Given the description of an element on the screen output the (x, y) to click on. 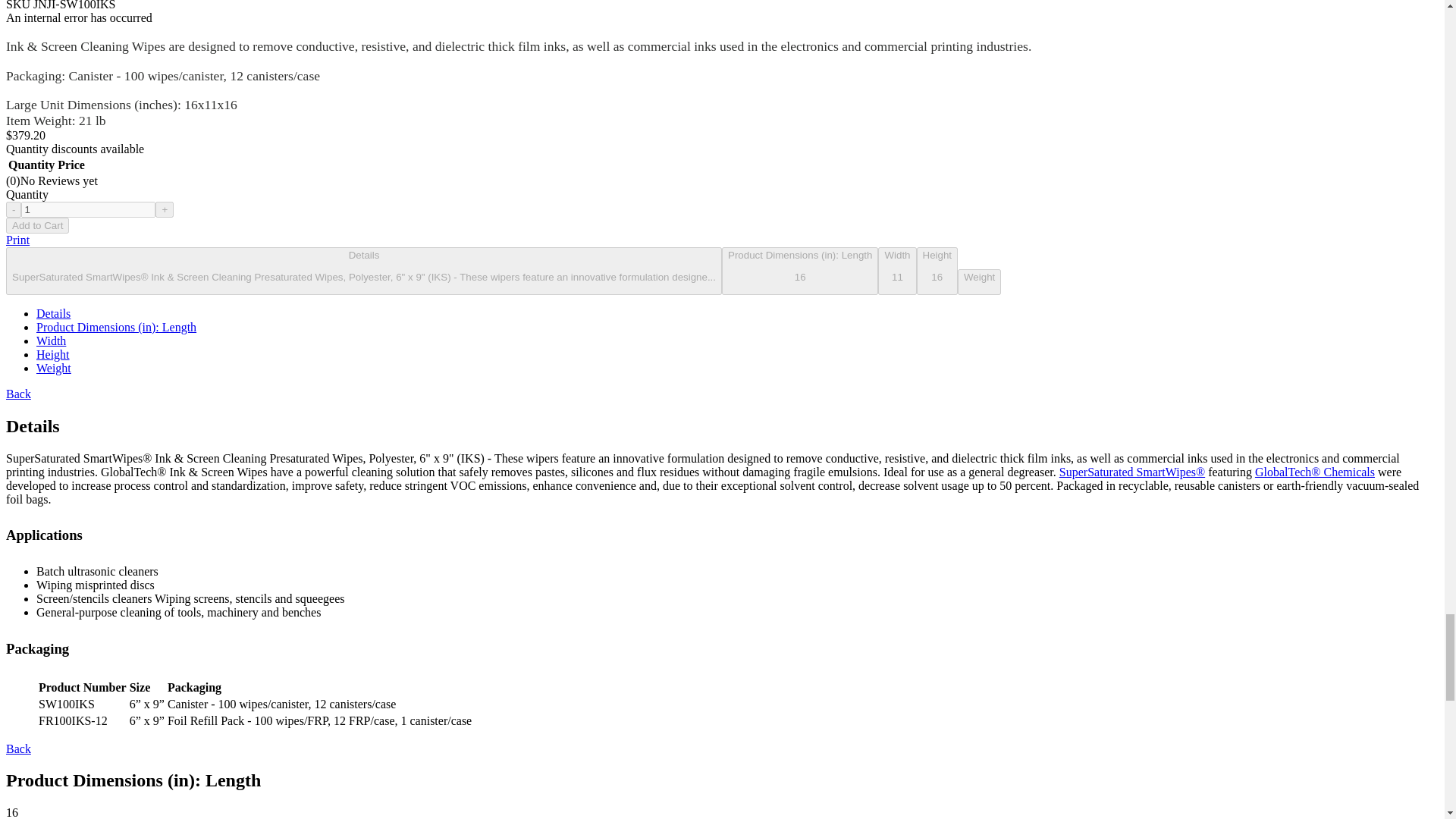
1 (88, 209)
